Given the description of an element on the screen output the (x, y) to click on. 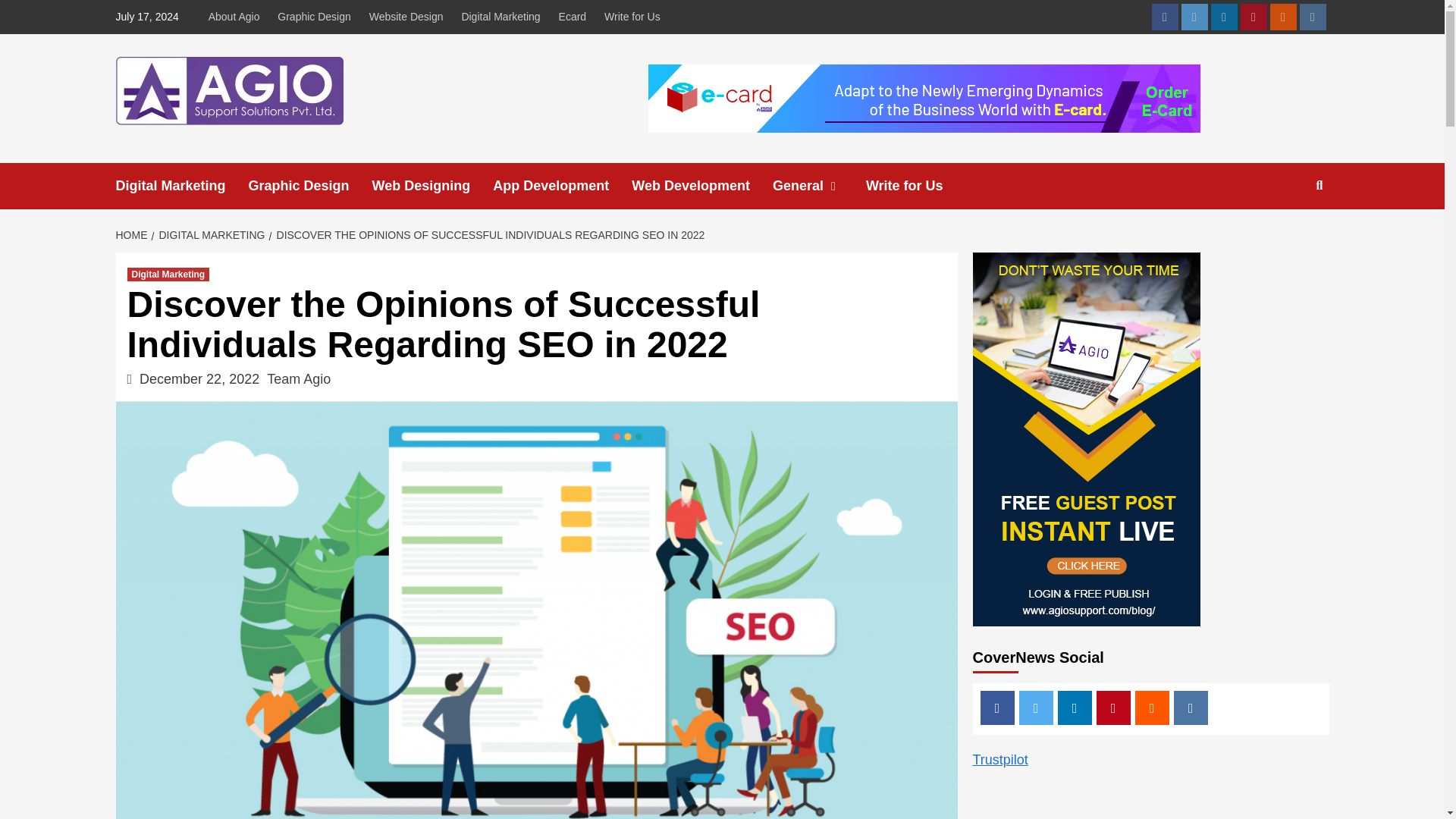
Pinterest (1253, 17)
Twitter (1194, 17)
Reddit (1282, 17)
Advertisement (1116, 802)
DIGITAL MARKETING (210, 234)
HOME (133, 234)
Digital Marketing (181, 185)
Search (1319, 185)
Digital Marketing (499, 17)
General (819, 185)
Search (1283, 234)
Write for Us (916, 185)
Vk (1313, 17)
Write for Us (632, 17)
Graphic Design (310, 185)
